Given the description of an element on the screen output the (x, y) to click on. 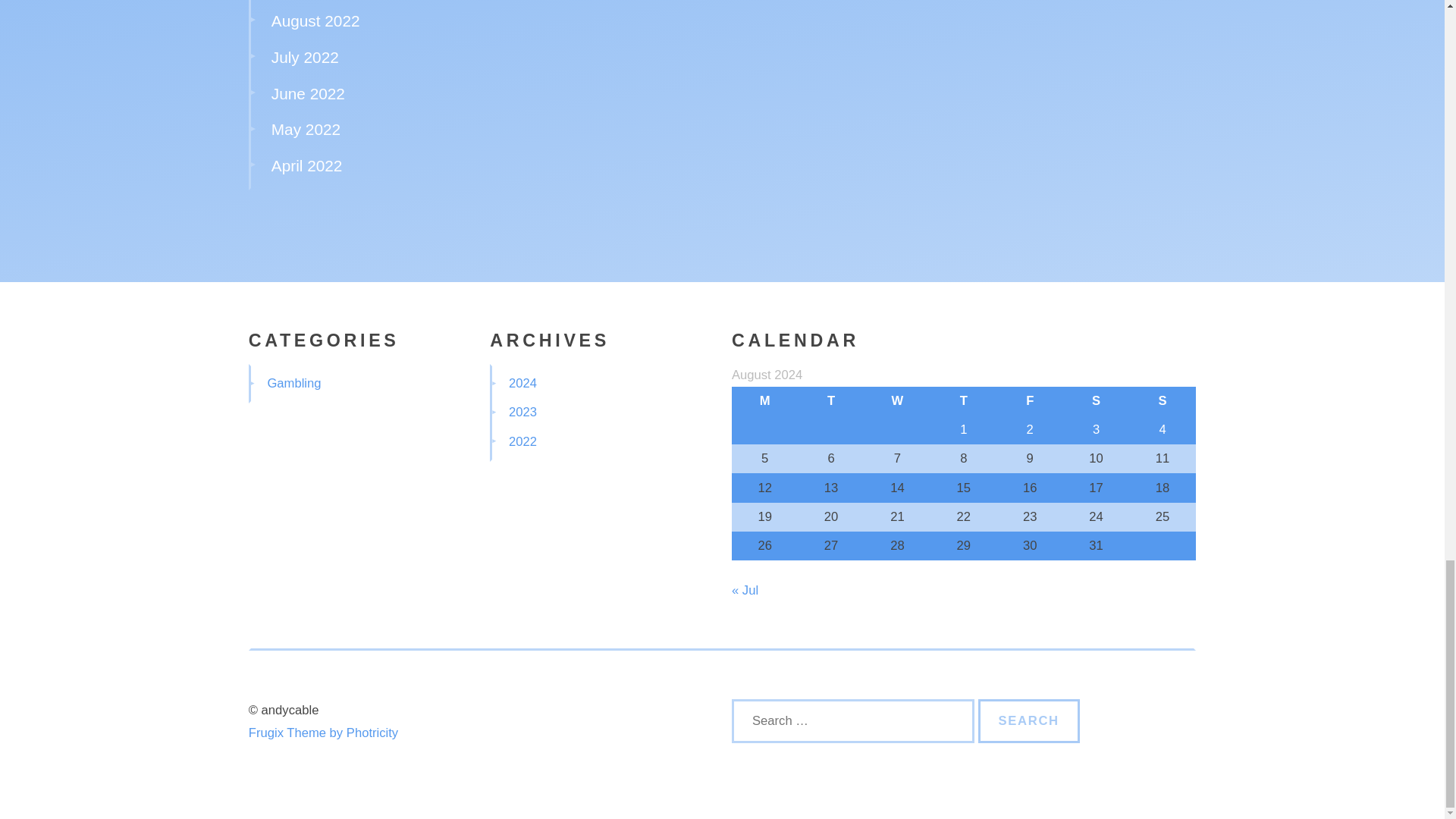
July 2022 (304, 57)
Thursday (962, 400)
August 2022 (314, 20)
June 2022 (307, 93)
Friday (1029, 400)
Tuesday (830, 400)
Search (1029, 720)
Wednesday (897, 400)
Sunday (1162, 400)
Search (1029, 720)
Monday (764, 400)
Saturday (1095, 400)
April 2022 (306, 165)
May 2022 (305, 129)
